Given the description of an element on the screen output the (x, y) to click on. 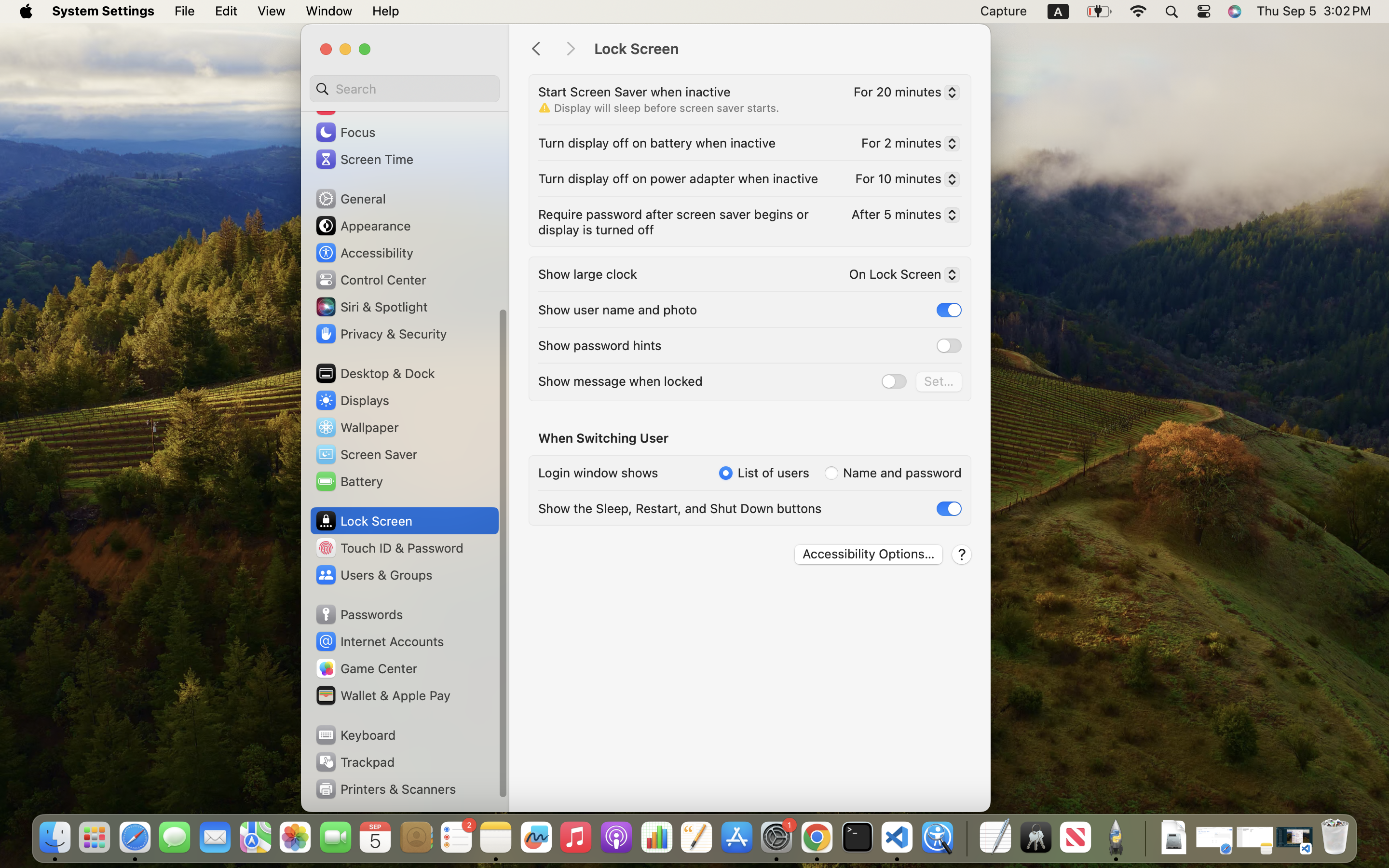
Require password after screen saver begins or display is turned off Element type: AXStaticText (675, 221)
Desktop & Dock Element type: AXStaticText (374, 372)
Wallpaper Element type: AXStaticText (356, 426)
Wallet & Apple Pay Element type: AXStaticText (382, 694)
